Given the description of an element on the screen output the (x, y) to click on. 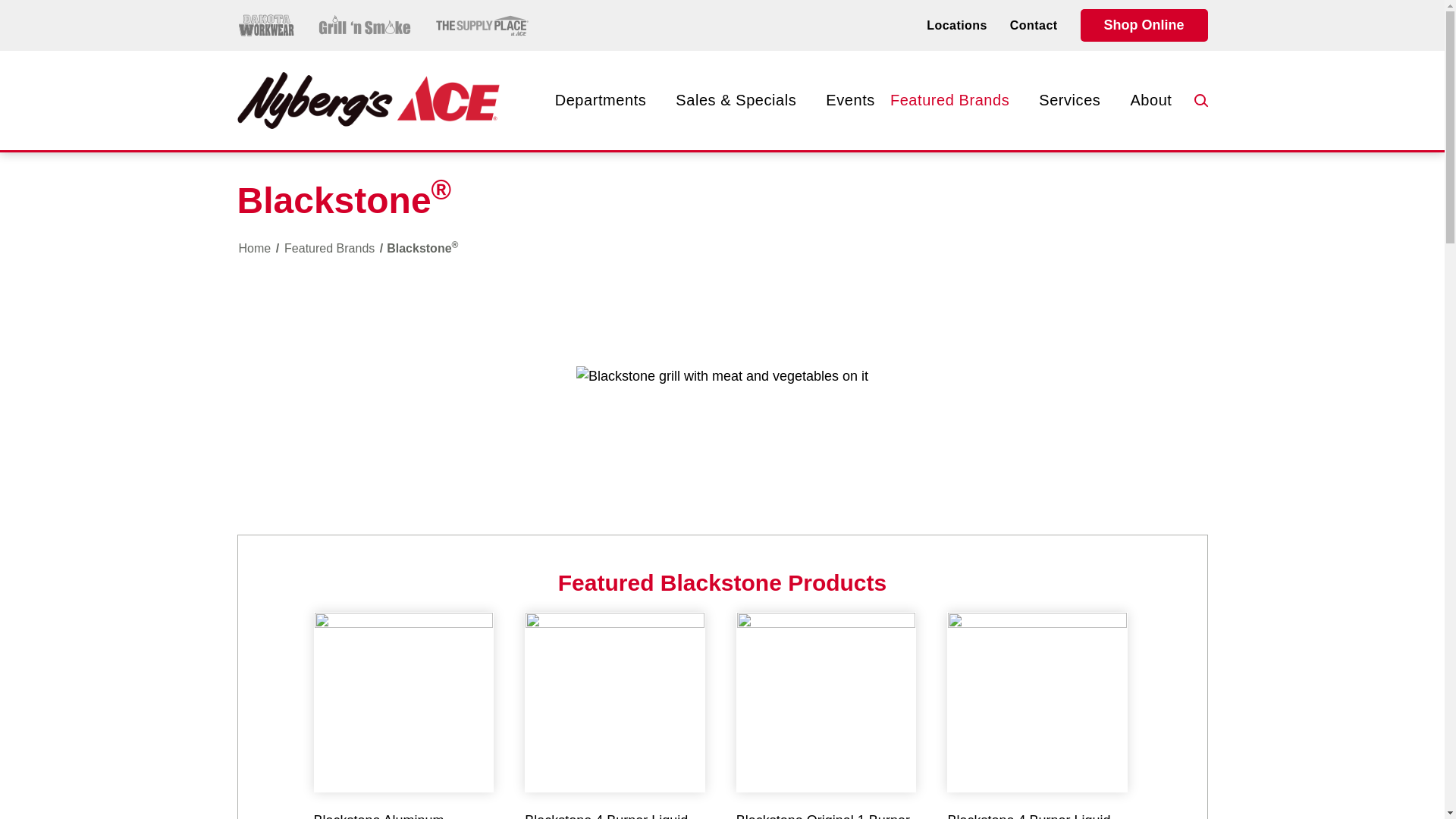
Shop Online (1143, 25)
Locations (956, 24)
Contact (1034, 24)
Departments (607, 100)
Featured Brands (956, 100)
Departments (607, 100)
Services (1077, 100)
Events (850, 100)
